Given the description of an element on the screen output the (x, y) to click on. 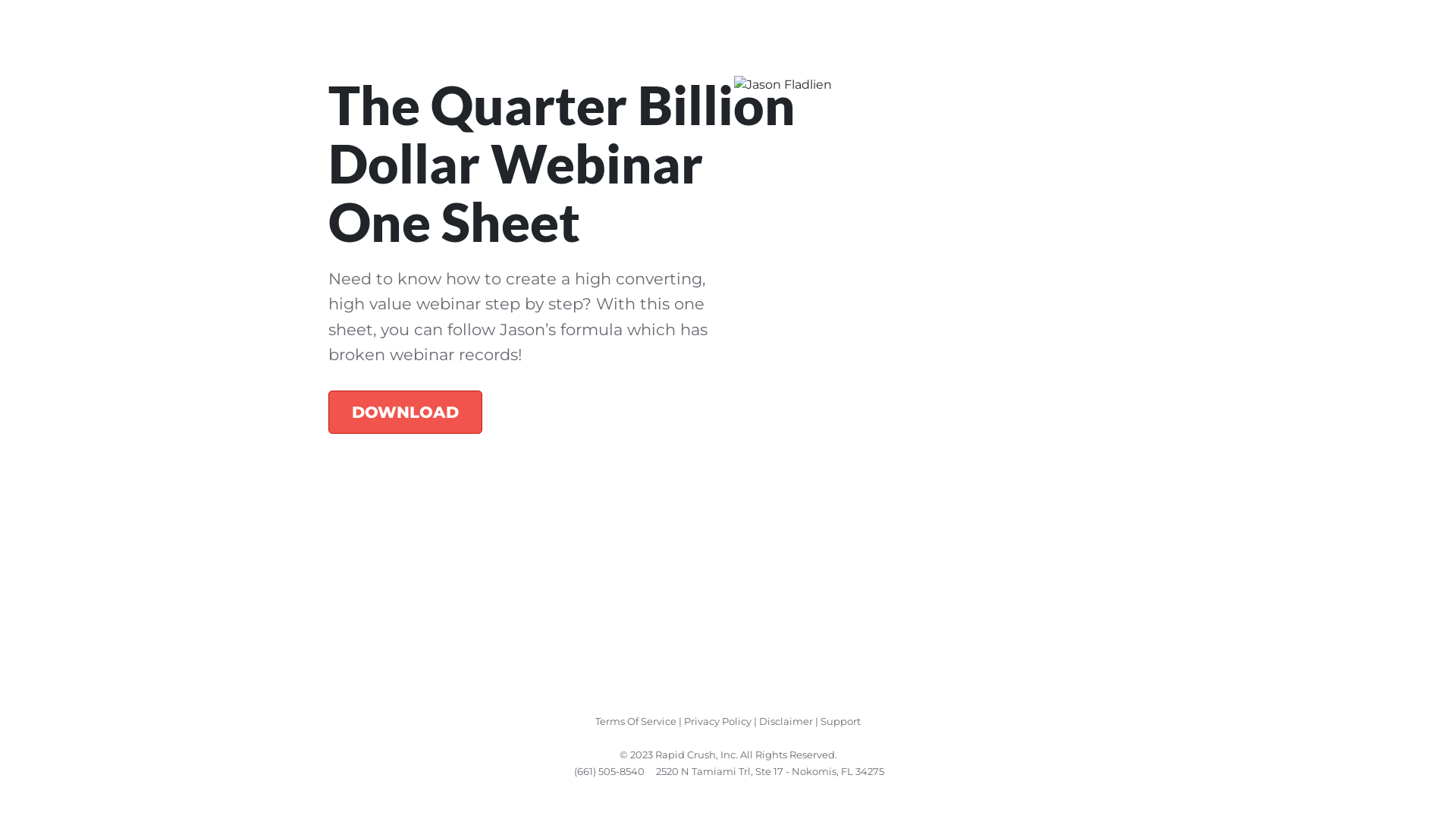
Privacy Policy Element type: text (717, 721)
Support Element type: text (840, 721)
DOWNLOAD Element type: text (404, 411)
Disclaimer Element type: text (785, 721)
Terms Of Service Element type: text (635, 721)
